Given the description of an element on the screen output the (x, y) to click on. 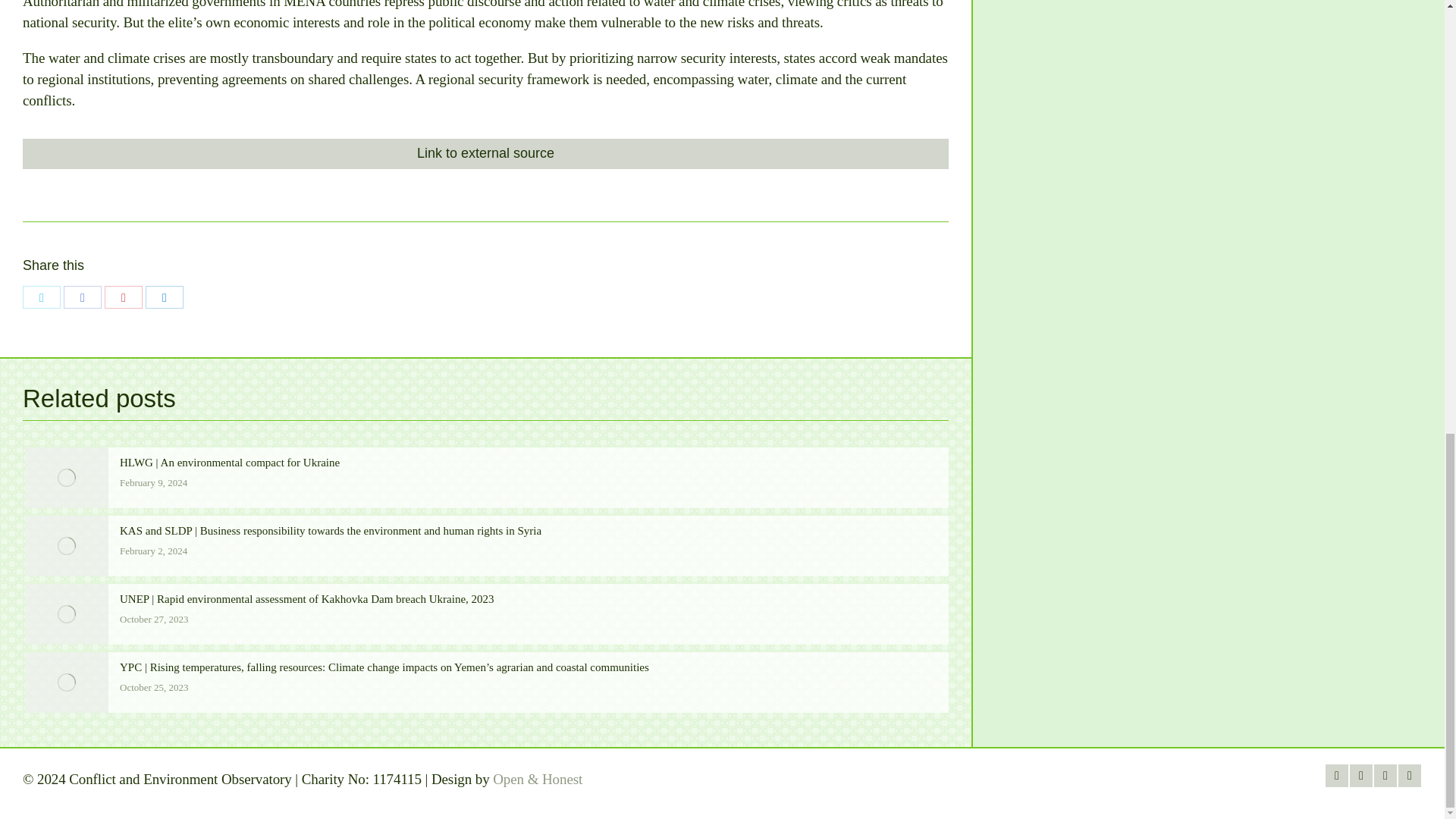
Facebook page opens in new window (1336, 775)
LinkedIn (164, 296)
Twitter page opens in new window (1361, 775)
Twitter (42, 296)
Facebook (82, 296)
Pinterest (123, 296)
YouTube page opens in new window (1385, 775)
Linkedin page opens in new window (1409, 775)
